Given the description of an element on the screen output the (x, y) to click on. 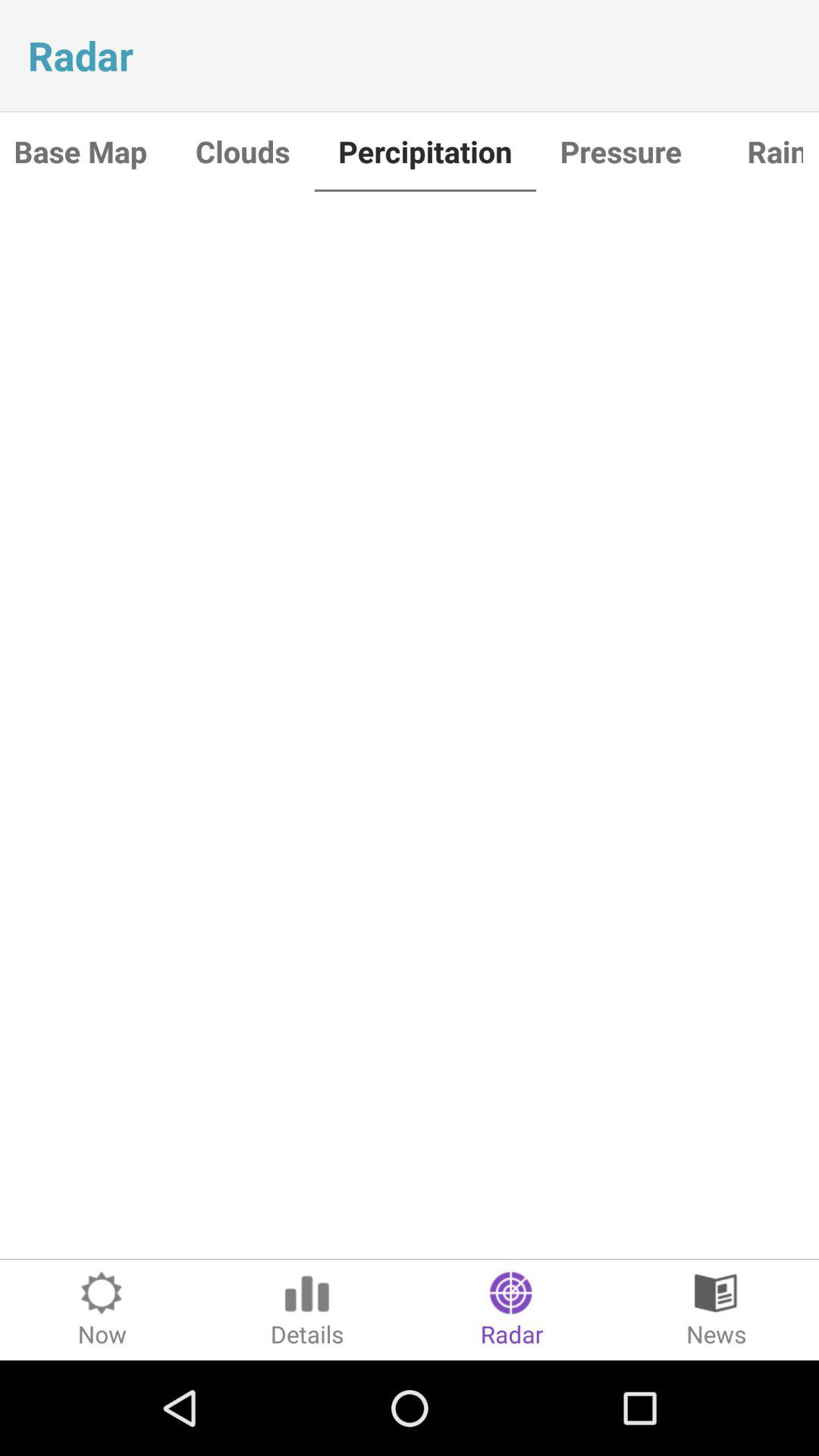
select now (102, 1310)
